Given the description of an element on the screen output the (x, y) to click on. 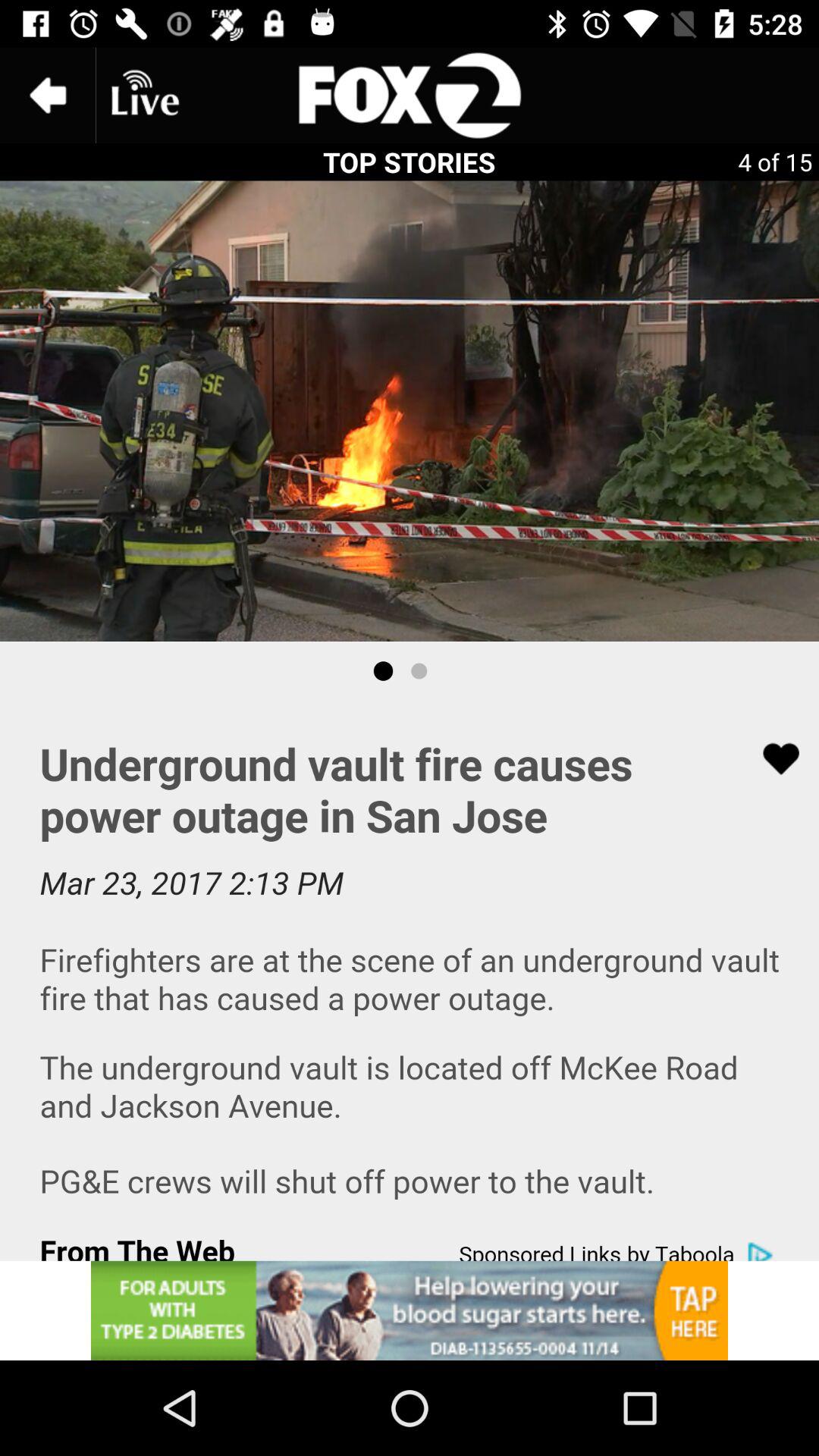
toggle favorites option (771, 758)
